Given the description of an element on the screen output the (x, y) to click on. 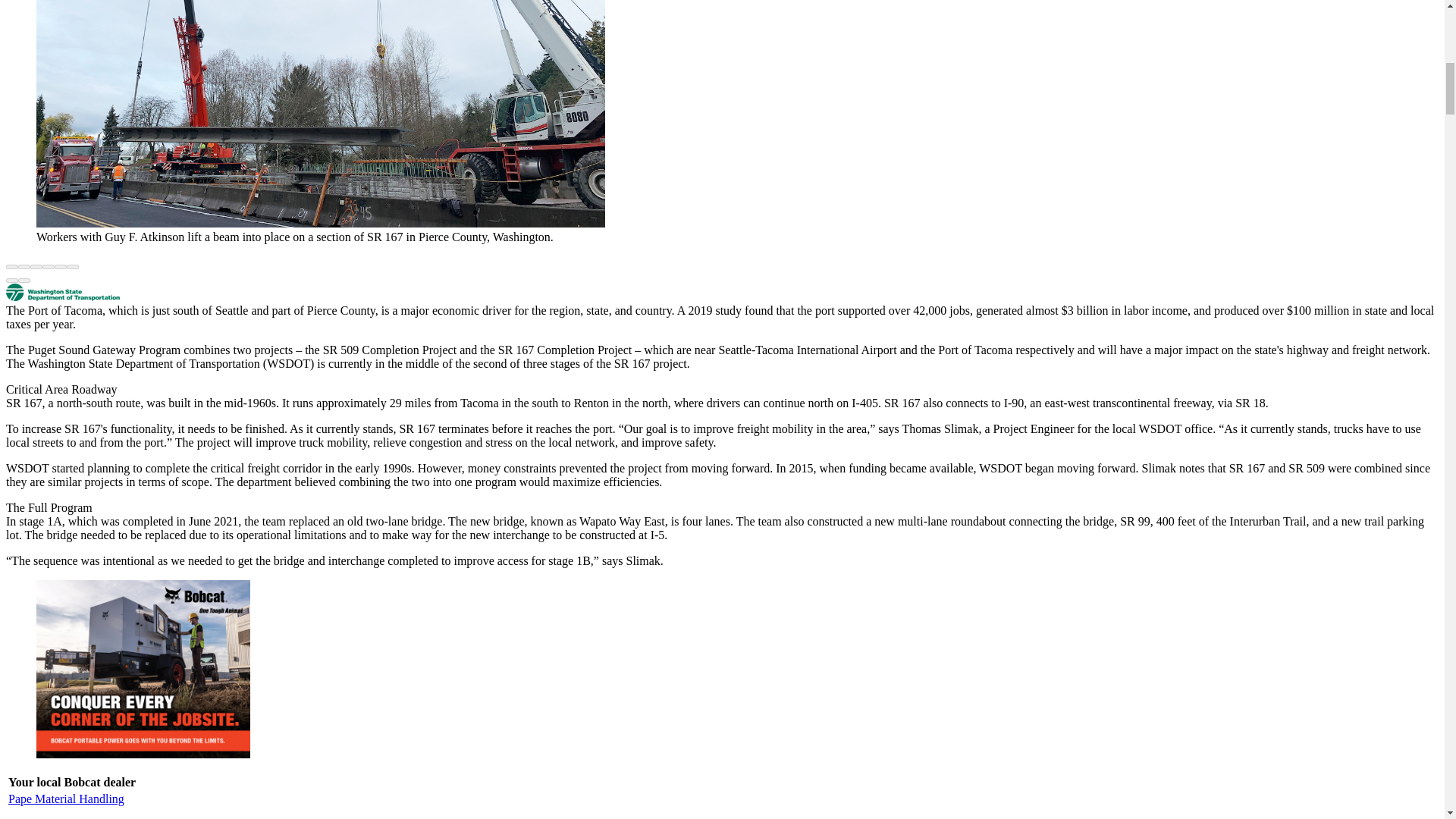
Pape Material Handling (65, 798)
